Given the description of an element on the screen output the (x, y) to click on. 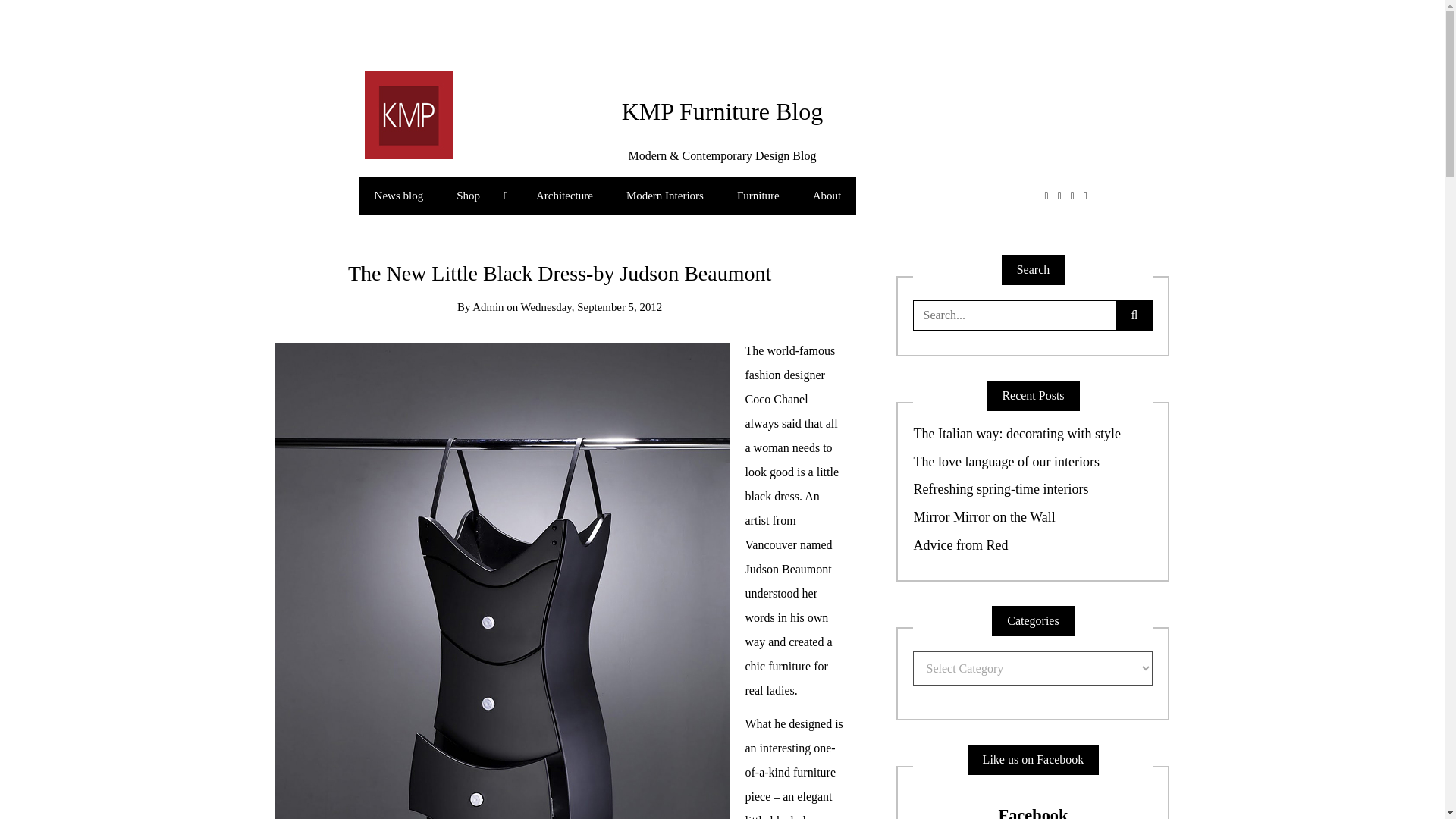
Posts by admin (487, 306)
Admin (487, 306)
KMP Furniture - Modern Furniture (407, 113)
Wednesday, September 5, 2012 (591, 306)
Shop (479, 196)
News blog (399, 196)
Architecture (564, 196)
Modern Interiors (665, 196)
Furniture (758, 196)
About (826, 196)
KMP Furniture Blog (722, 111)
